Given the description of an element on the screen output the (x, y) to click on. 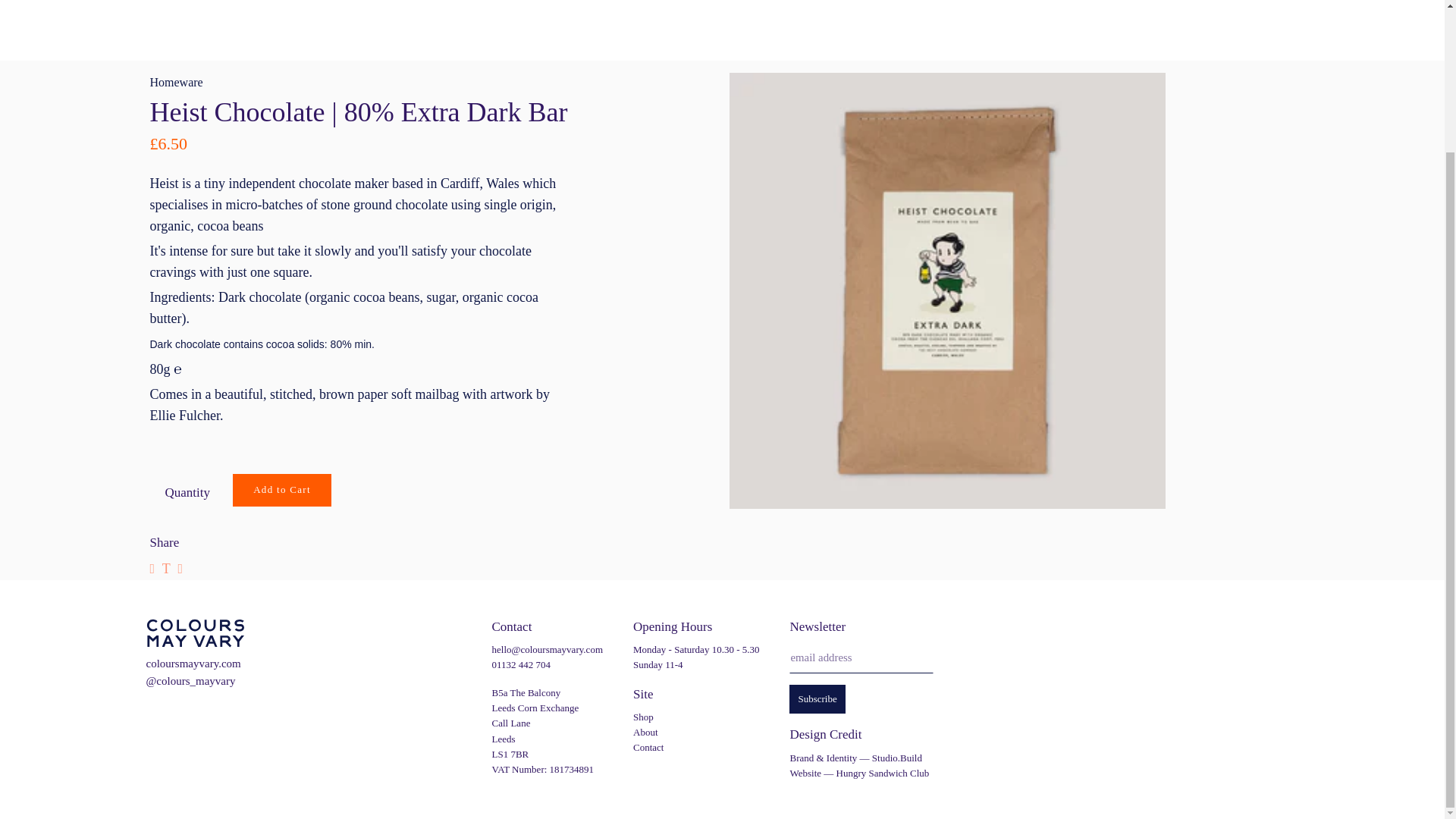
Share on Facebook (152, 568)
Colours May Vary on Twitter (183, 716)
Colours May Vary on Instagram (156, 716)
Add to Cart (281, 490)
Share on Facebook (152, 568)
Subscribe (816, 698)
Colours May Vary on Facebook (209, 716)
Pin on Pinterest (180, 568)
Tweet on Twitter (165, 568)
Tweet on Twitter (165, 568)
